Given the description of an element on the screen output the (x, y) to click on. 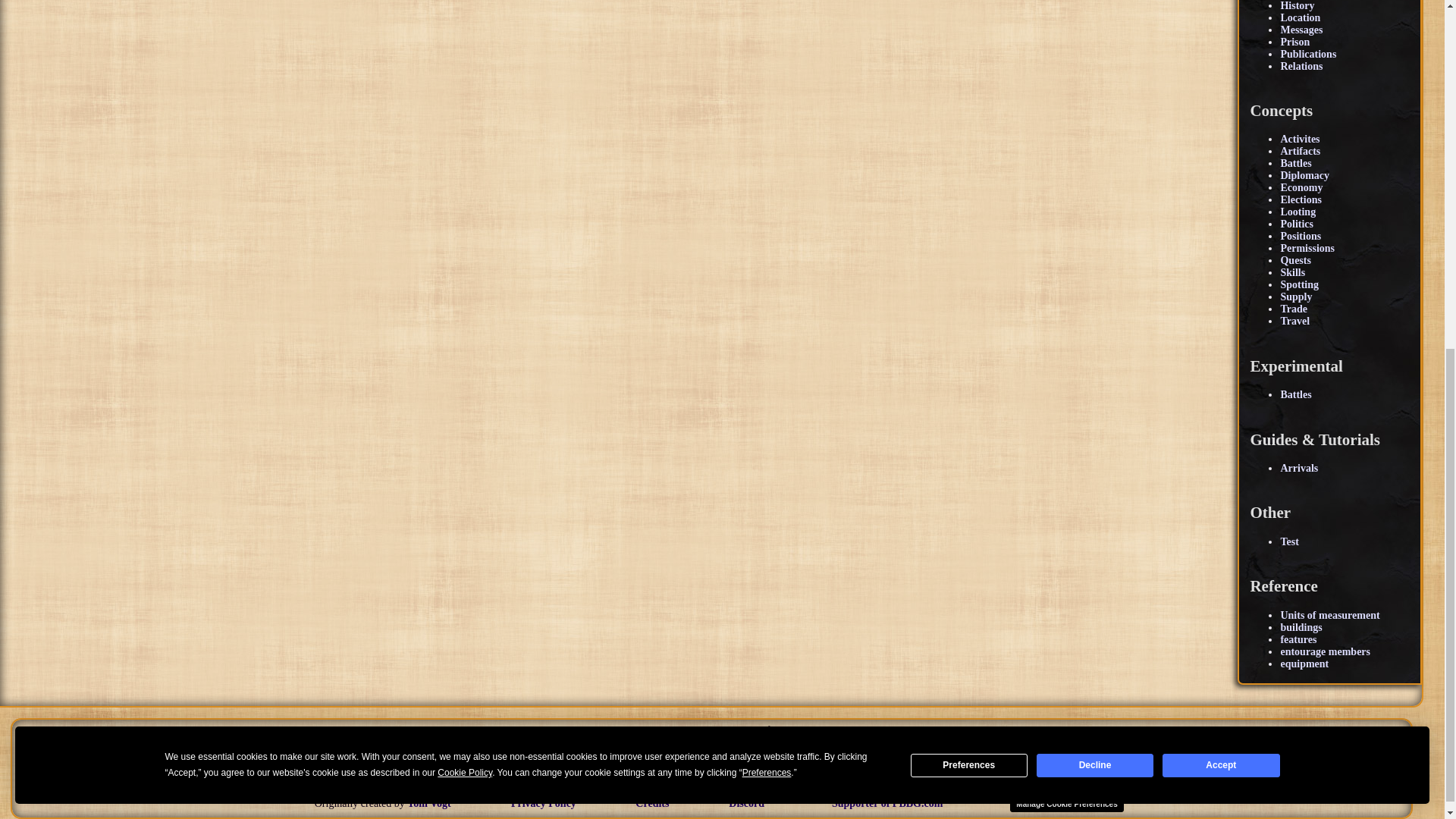
Decline (1094, 155)
Preferences (969, 155)
Accept (1220, 155)
